Given the description of an element on the screen output the (x, y) to click on. 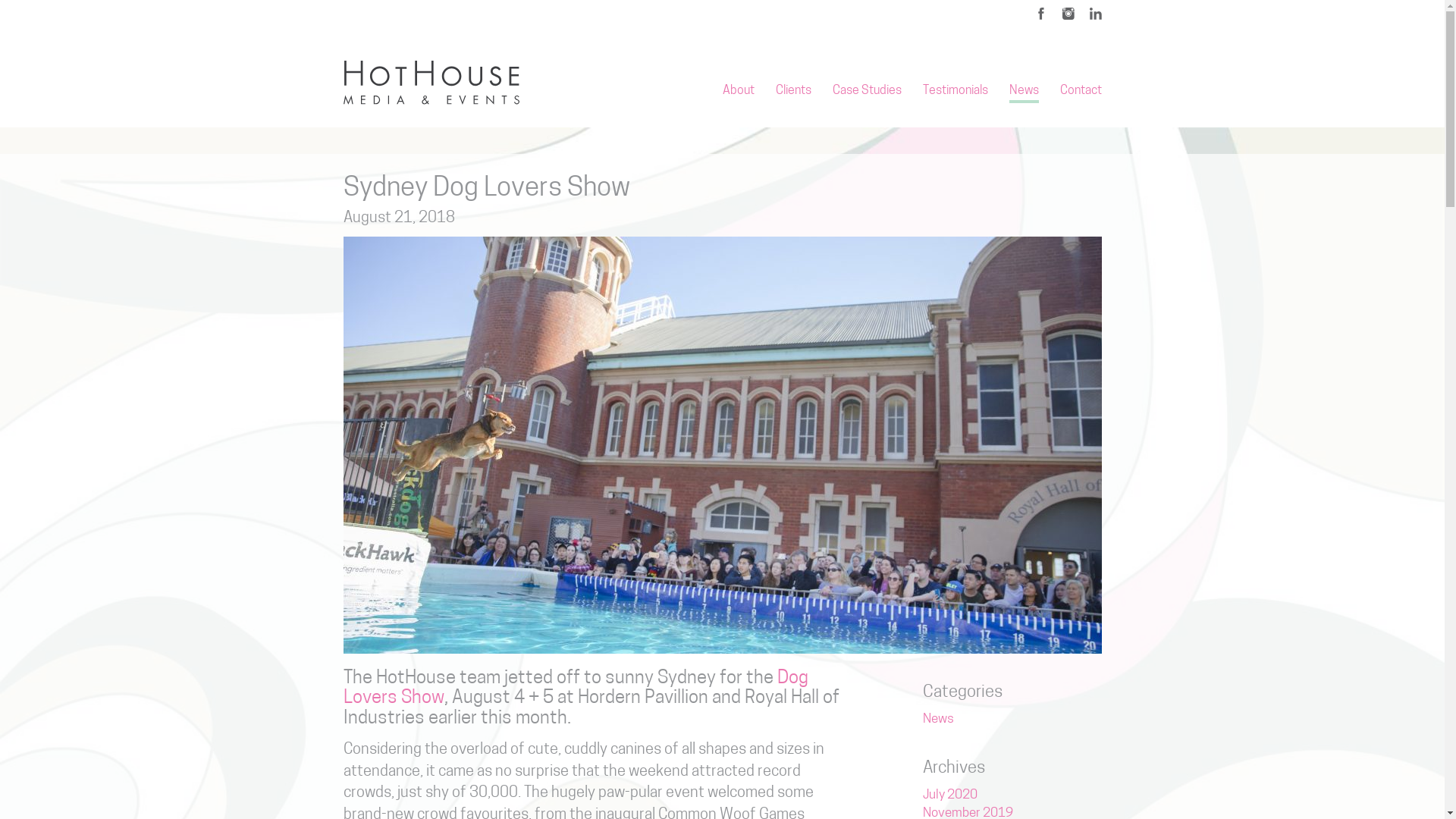
July 2020 Element type: text (949, 794)
News Element type: text (937, 718)
Skip to primary content Element type: text (535, 81)
Testimonials Element type: text (954, 91)
Clients Element type: text (792, 91)
Contact Element type: text (1080, 91)
Case Studies Element type: text (866, 91)
Permalink to Sydney Dog Lovers Show Element type: hover (721, 444)
HotHouse Media & Events Element type: hover (430, 82)
About Element type: text (737, 91)
News Element type: text (1023, 91)
Dog Lovers Show Element type: text (574, 688)
